Given the description of an element on the screen output the (x, y) to click on. 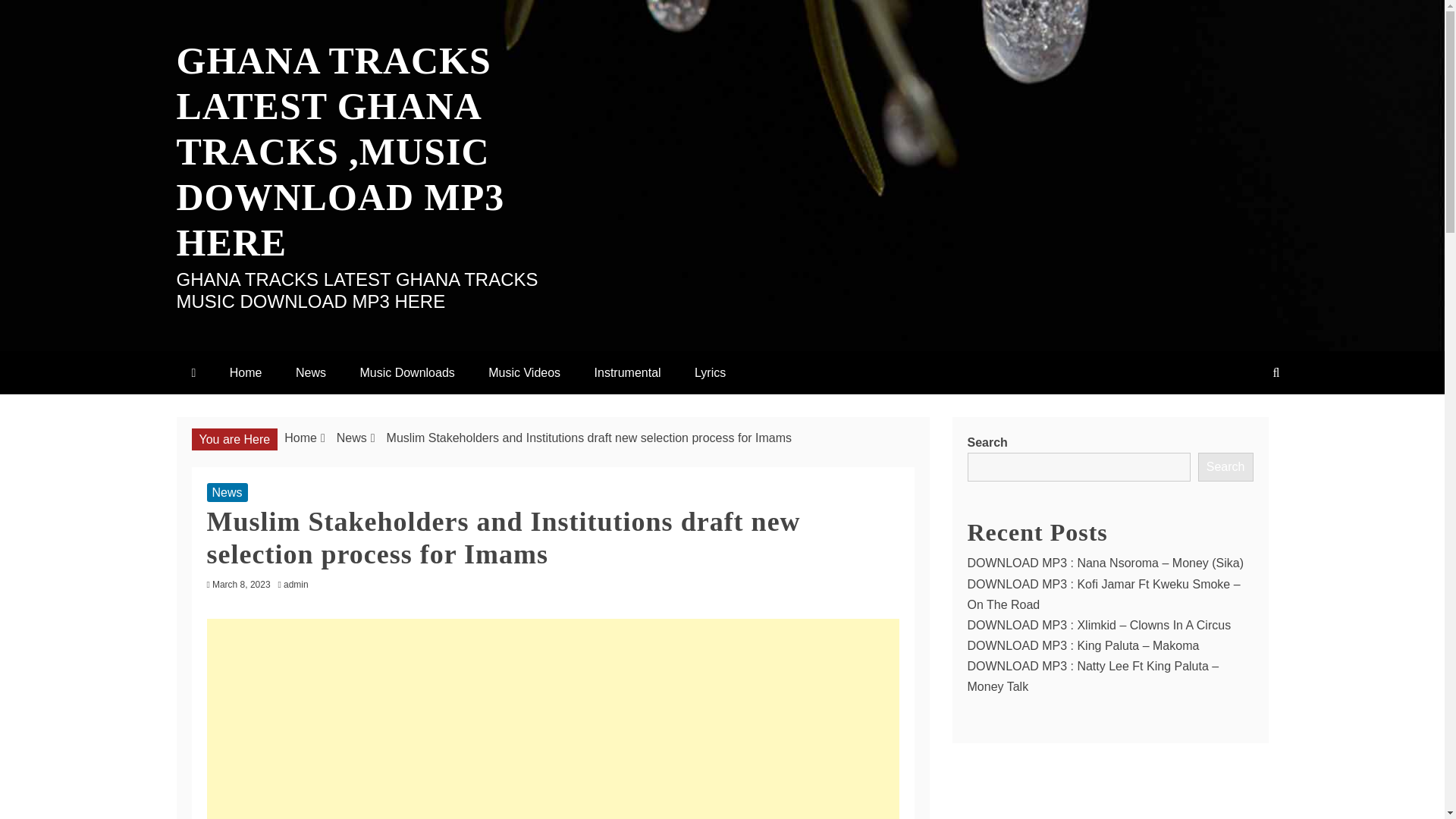
Home (300, 437)
Search (1225, 466)
Lyrics (710, 372)
March 8, 2023 (241, 584)
GHANA TRACKS LATEST GHANA TRACKS ,MUSIC DOWNLOAD MP3 HERE (339, 151)
Music Videos (524, 372)
News (351, 437)
Home (246, 372)
News (226, 492)
